Given the description of an element on the screen output the (x, y) to click on. 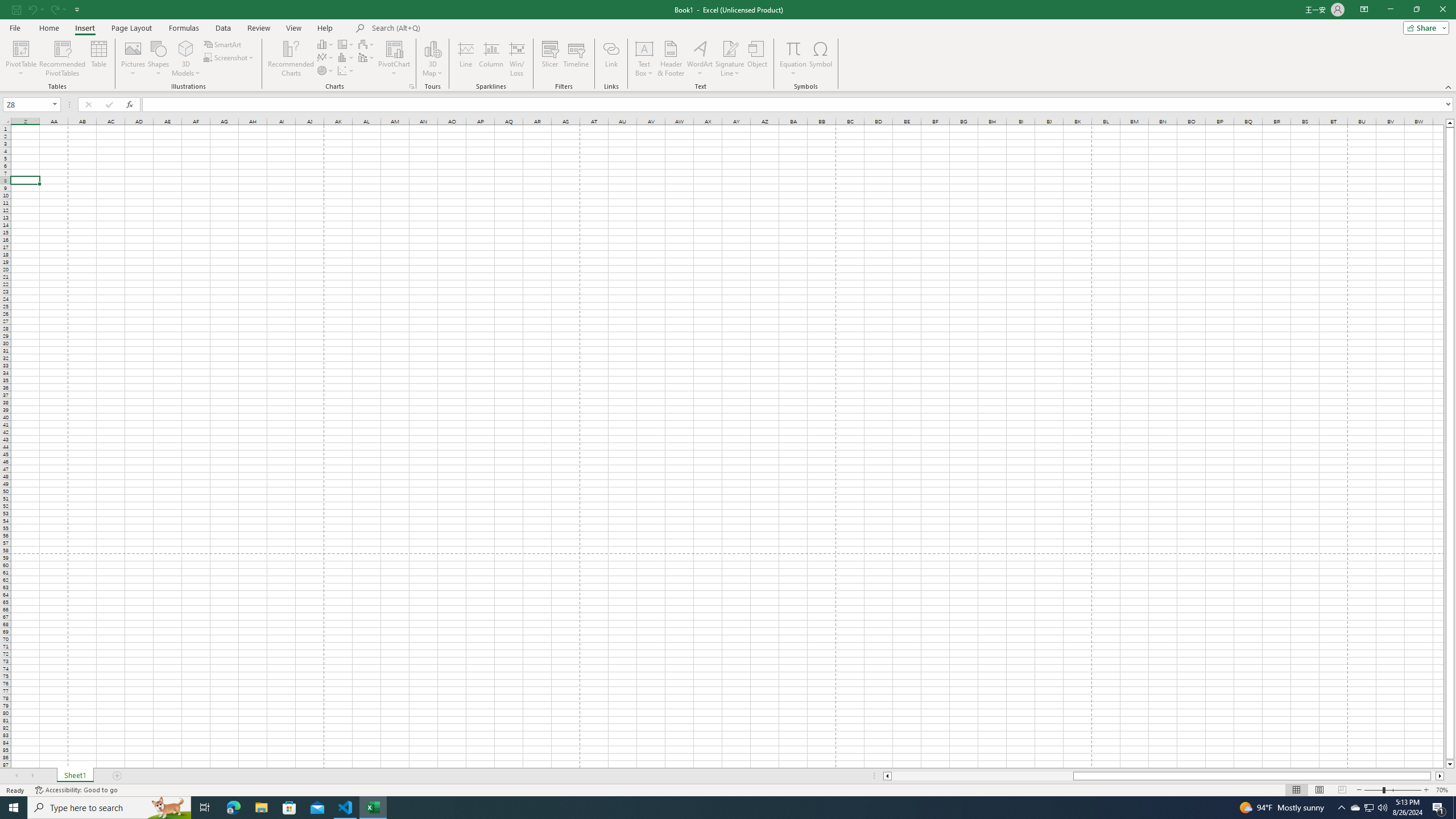
Insert Line or Area Chart (325, 56)
Symbol... (821, 58)
Signature Line (729, 48)
Win/Loss (516, 58)
Insert Hierarchy Chart (346, 44)
